Given the description of an element on the screen output the (x, y) to click on. 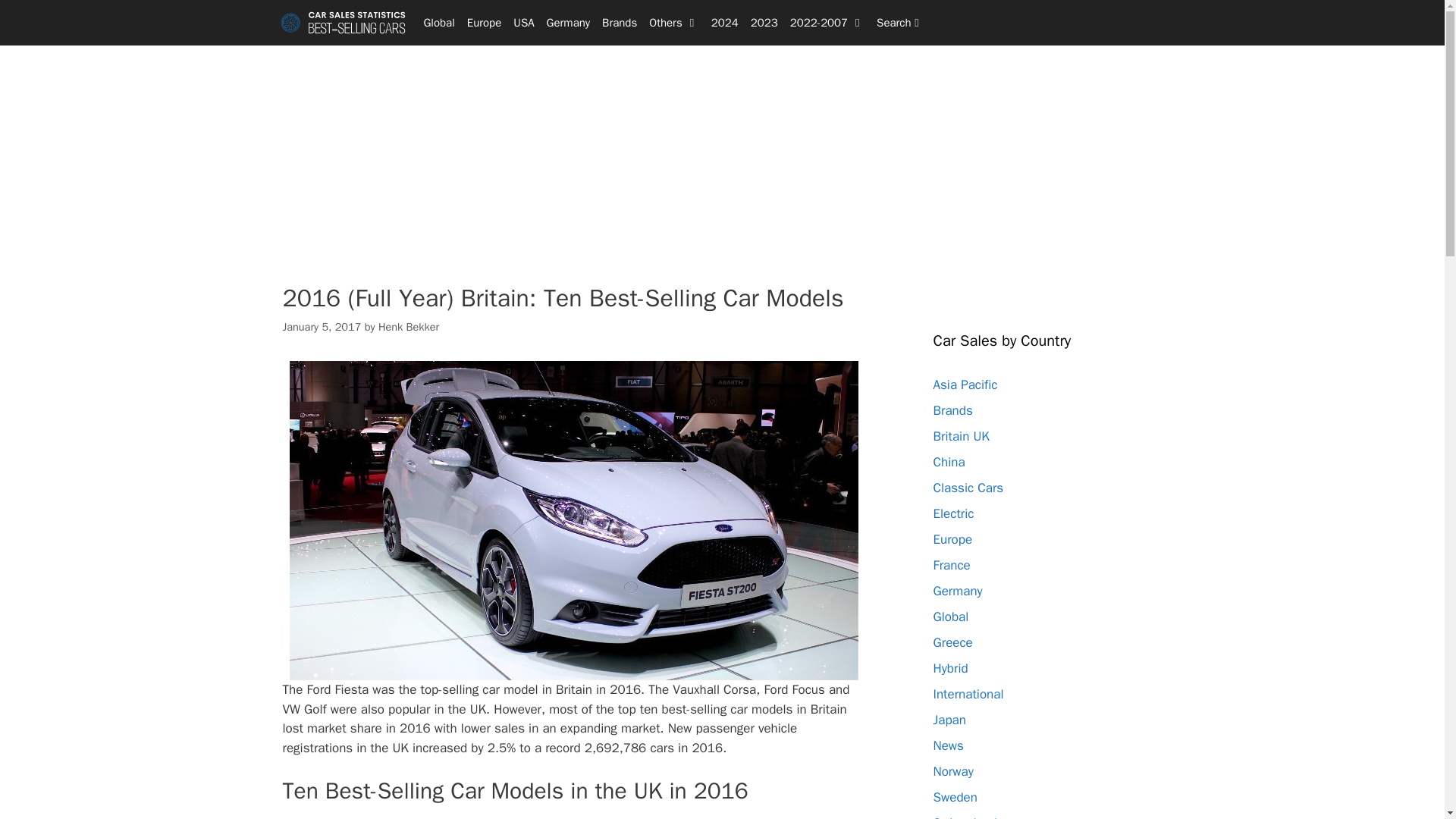
View all posts by Henk Bekker (408, 326)
Car Sales Statistics (342, 22)
